Given the description of an element on the screen output the (x, y) to click on. 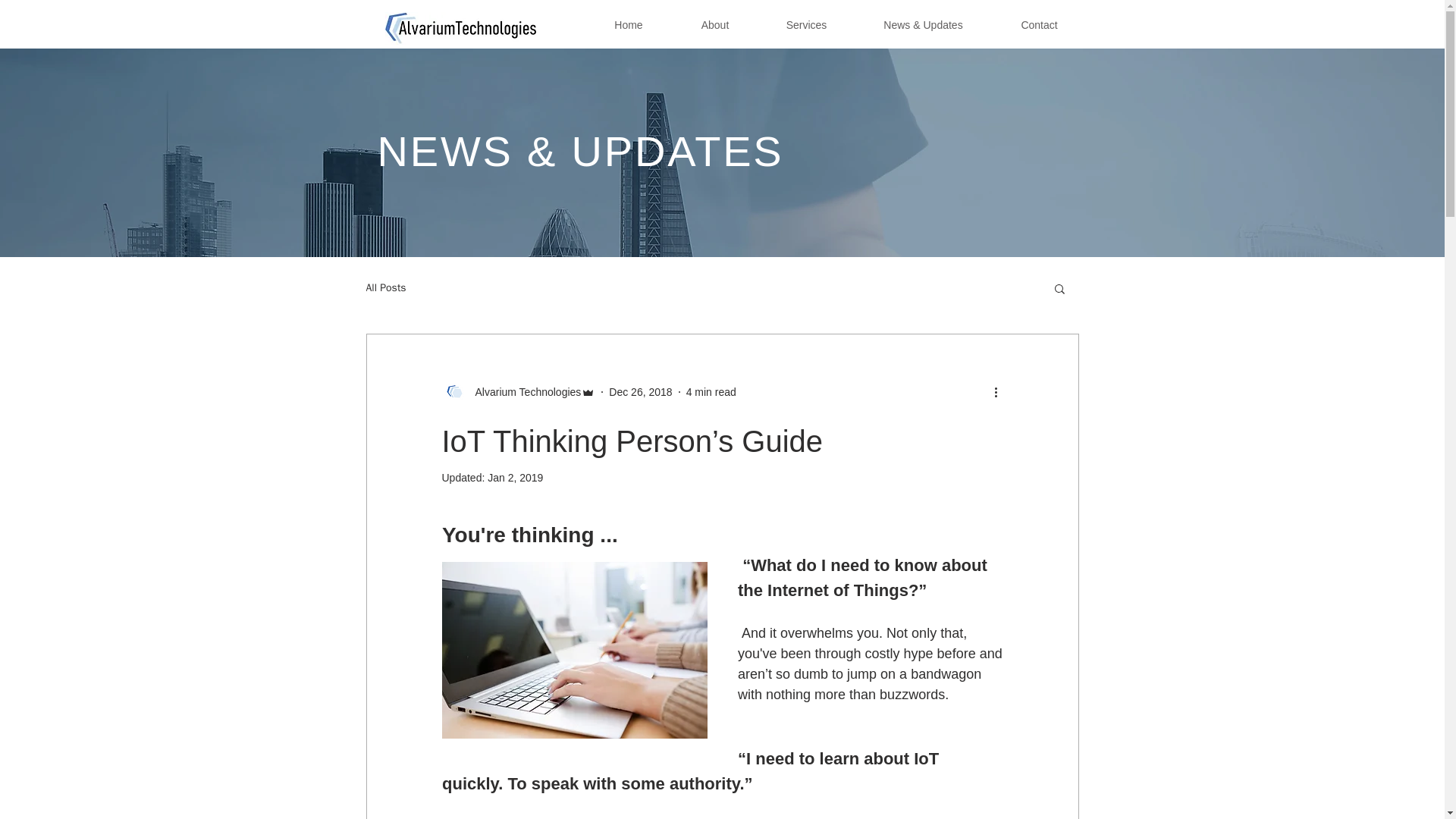
Home (628, 25)
About (714, 25)
Alvarium Technologies (522, 391)
All Posts (385, 287)
Contact (1038, 25)
Services (805, 25)
Dec 26, 2018 (639, 390)
4 min read (710, 390)
Jan 2, 2019 (515, 477)
